Given the description of an element on the screen output the (x, y) to click on. 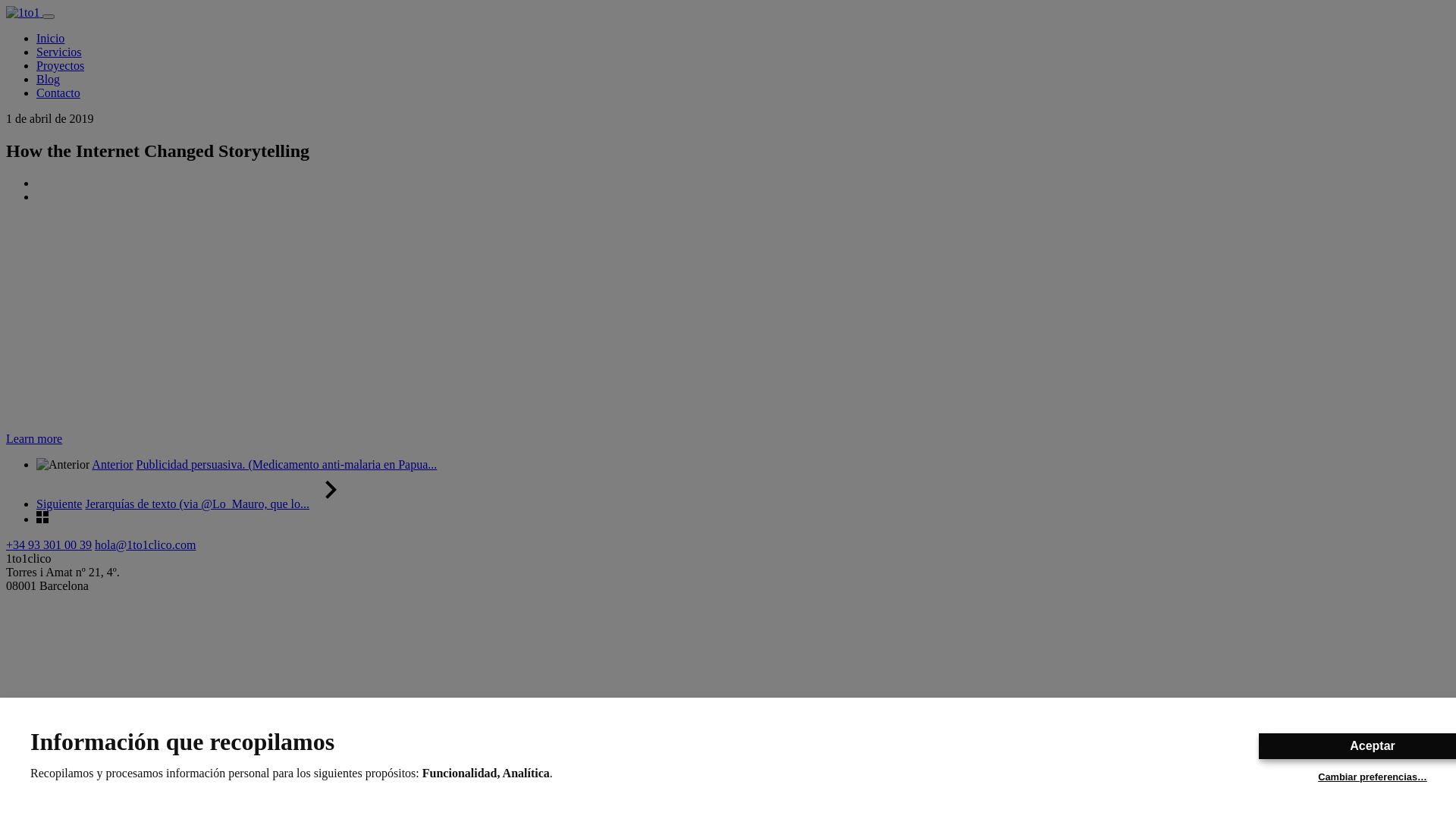
Contacto Element type: text (58, 92)
+34 93 301 00 39 Element type: text (48, 544)
Inicio Element type: text (50, 37)
hola@1to1clico.com Element type: text (144, 544)
Publicidad persuasiva. (Medicamento anti-malaria en Papua... Element type: text (286, 464)
Learn more Element type: text (34, 438)
Servicios Element type: text (58, 51)
Blog Element type: text (47, 78)
Anterior Element type: text (111, 464)
Proyectos Element type: text (60, 65)
Siguiente Element type: text (58, 503)
